Given the description of an element on the screen output the (x, y) to click on. 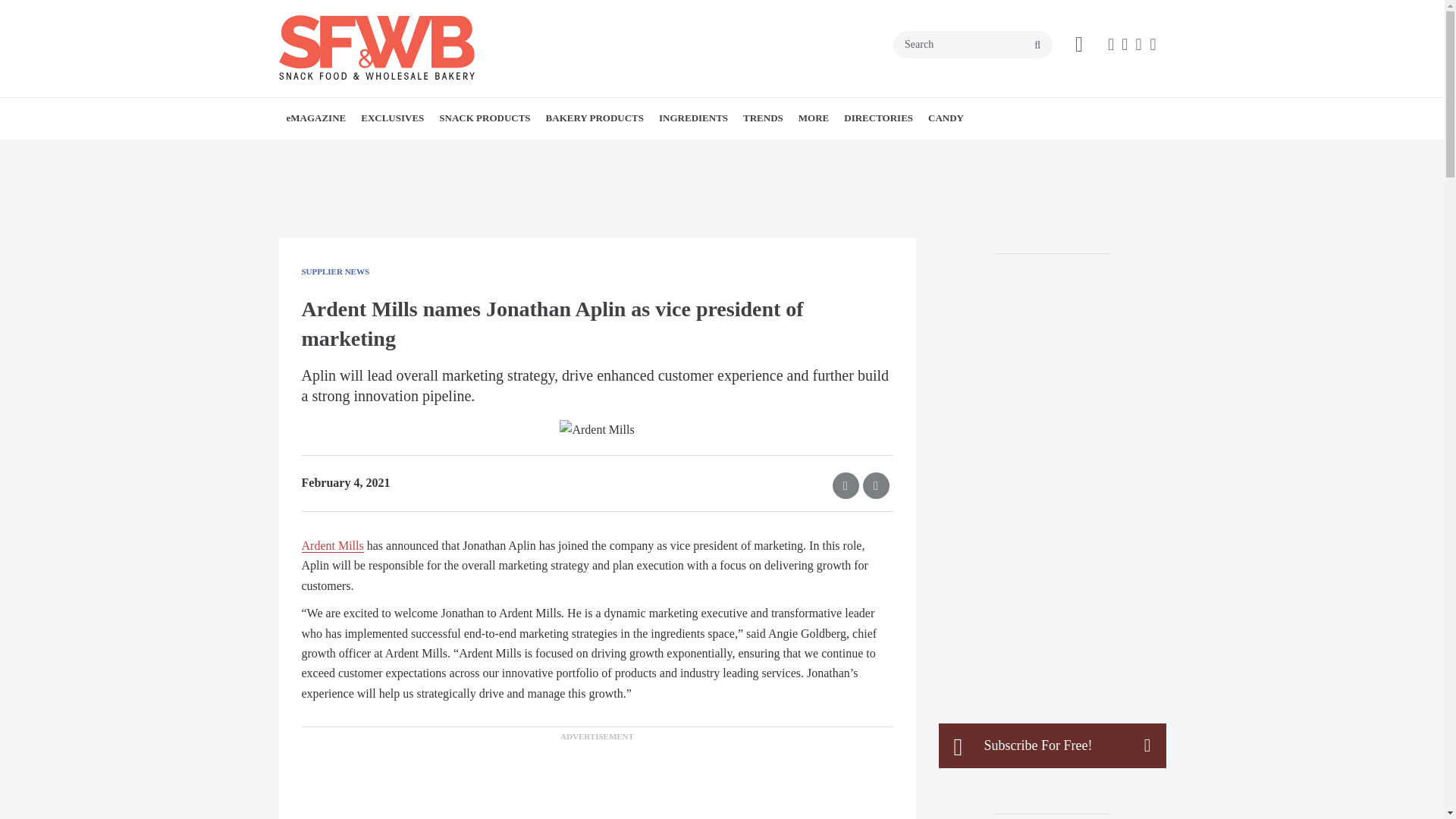
TORTILLA CHIPS (563, 151)
Search (972, 44)
Search (972, 44)
CONTACT (391, 151)
ARCHIVE ISSUES (380, 151)
NEW PRODUCTS (525, 151)
SNACK PRODUCER OF THE YEAR (467, 151)
search (1037, 45)
POPCORN (554, 151)
SIGN UP! (397, 151)
